Given the description of an element on the screen output the (x, y) to click on. 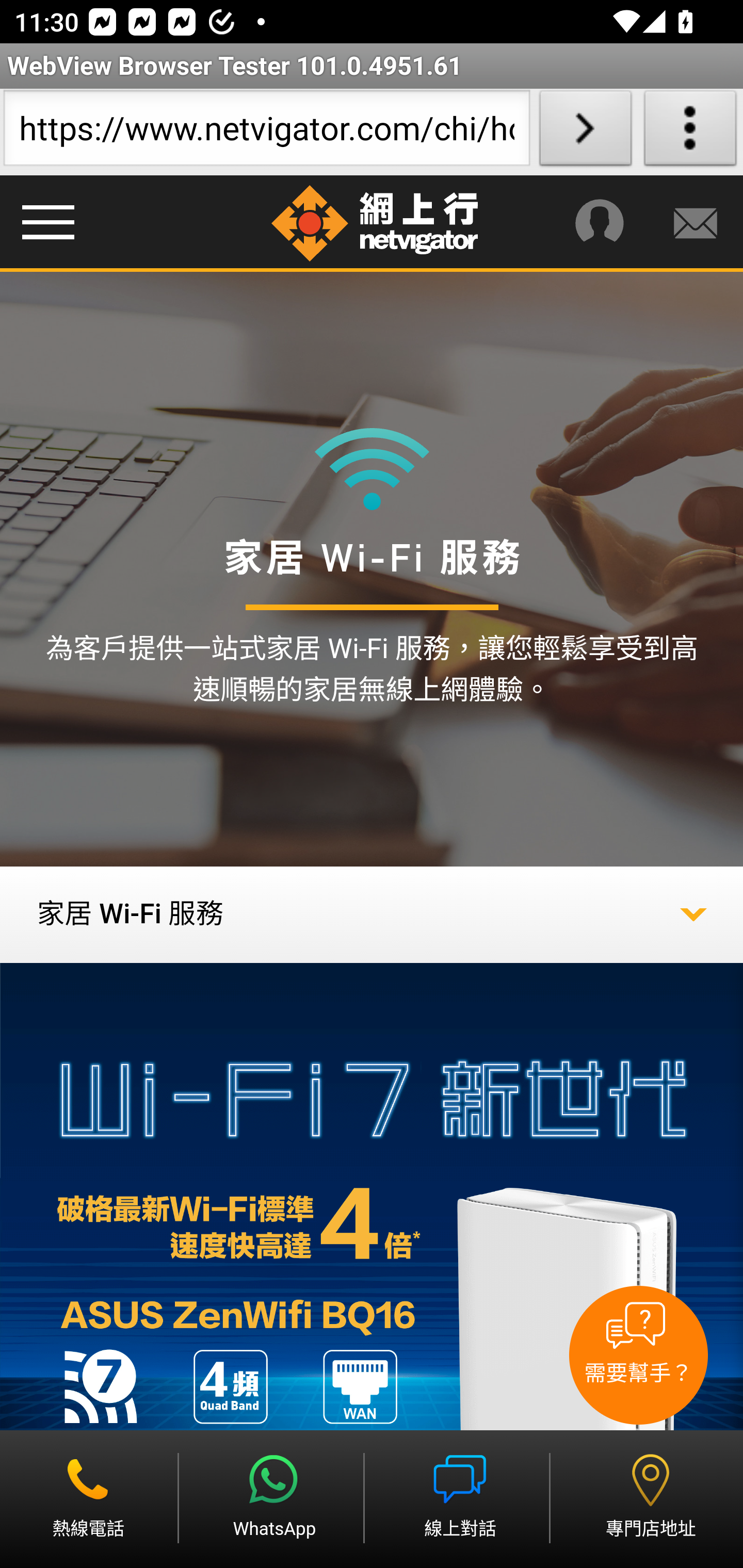
Load URL (585, 132)
About WebView (690, 132)
index (394, 223)
profile-icon (598, 223)
login (694, 223)
家居 Wi-Fi 服務 (371, 914)
homebanner2_MC (371, 1265)
homebanner2_MC (371, 1265)
homebanner2_MC (371, 1265)
homebanner2_MC (371, 1265)
需要幫手？ (637, 1355)
Hotline 熱線電話 Hotline 熱線電話 (90, 1497)
WhatsApp WhatsApp WhatsApp WhatsApp (275, 1497)
Livechat 線上對話 Livechat 線上對話 (461, 1497)
專門店地址 專門店地址 專門店地址 專門店地址 (649, 1497)
